Given the description of an element on the screen output the (x, y) to click on. 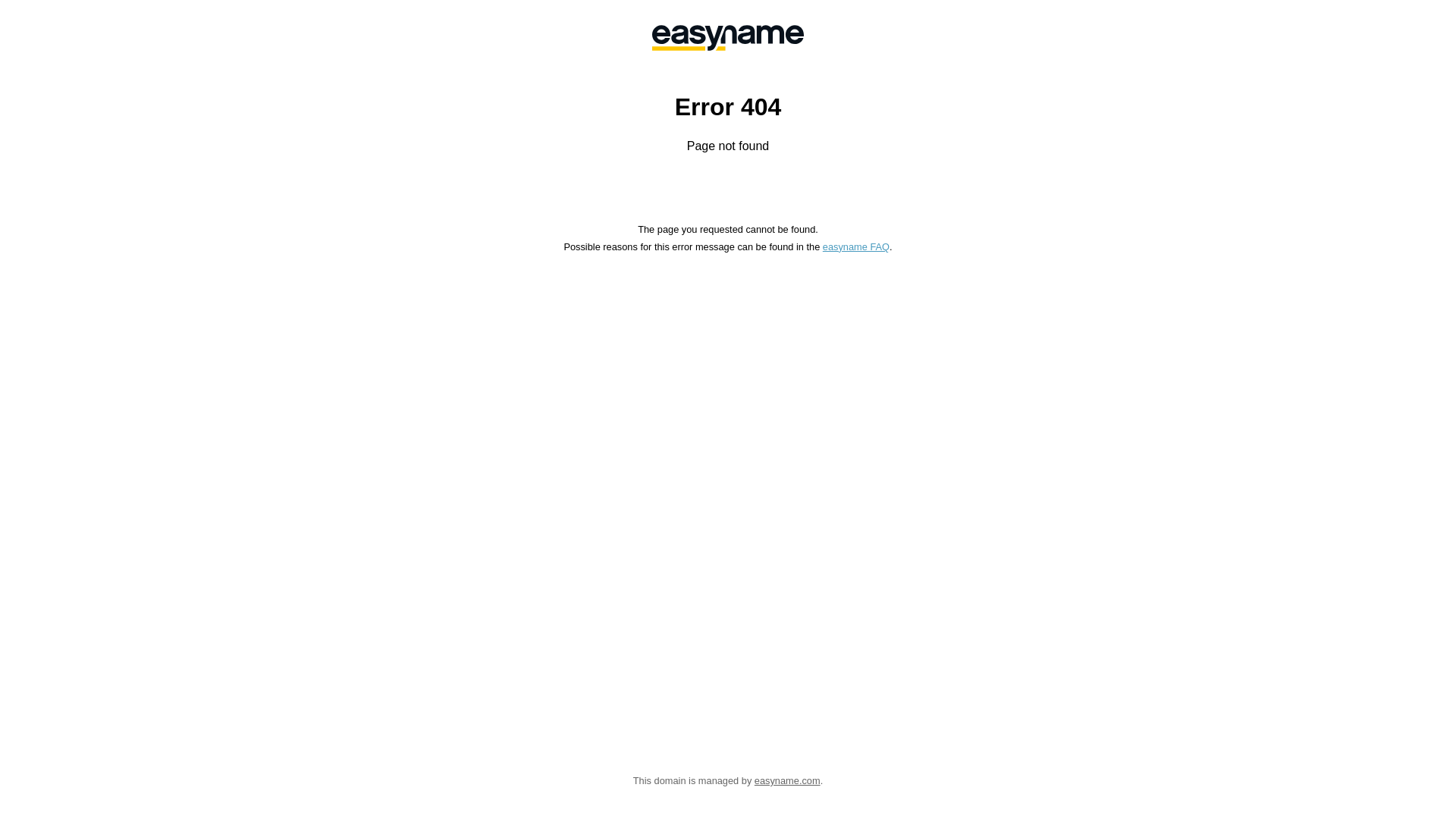
easyname GmbH Element type: hover (727, 37)
easyname.com Element type: text (787, 780)
easyname FAQ Element type: text (855, 246)
